Given the description of an element on the screen output the (x, y) to click on. 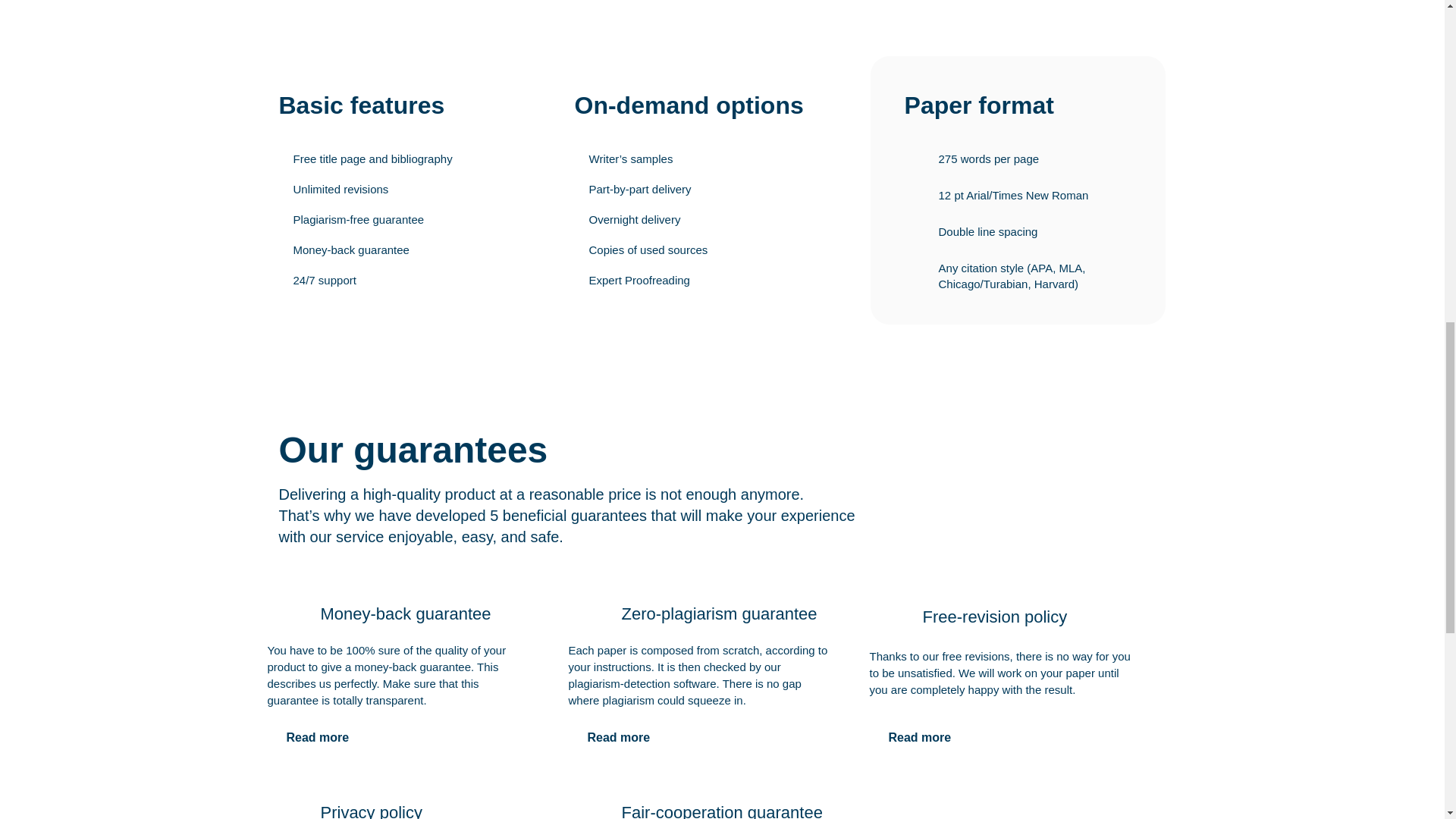
Read more (919, 737)
Read more (317, 737)
Read more (619, 737)
